Given the description of an element on the screen output the (x, y) to click on. 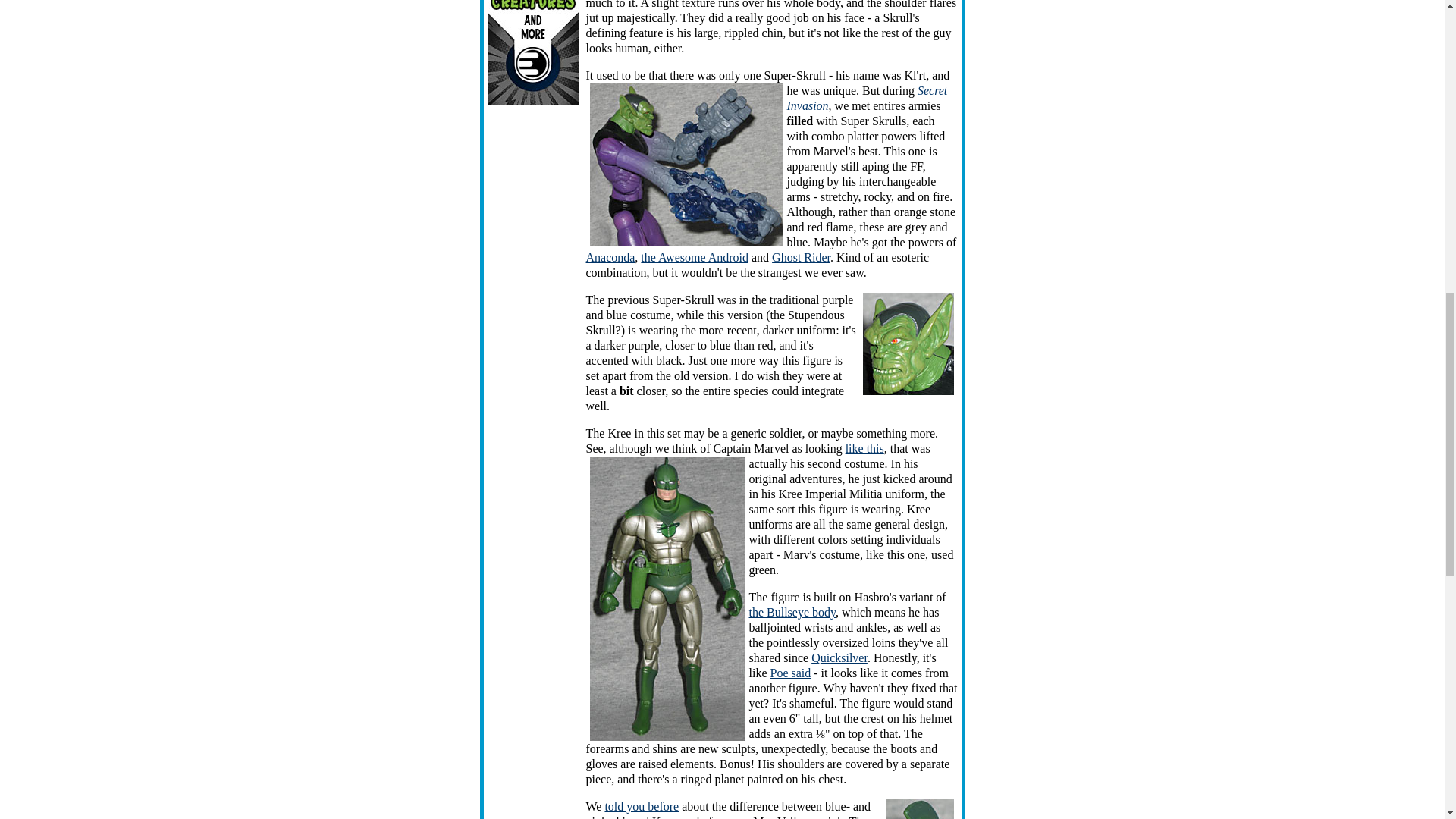
told you before (641, 806)
maybe he's just colorblind? (686, 164)
I'm evil! (908, 343)
Ghost Rider (800, 256)
Anaconda (609, 256)
like this (864, 448)
Poe said (790, 672)
Secret Invasion (867, 98)
the Bullseye body (792, 612)
it's chilly in space (919, 809)
Quicksilver (838, 657)
Kree Soldier (667, 598)
the Awesome Android (694, 256)
